Given the description of an element on the screen output the (x, y) to click on. 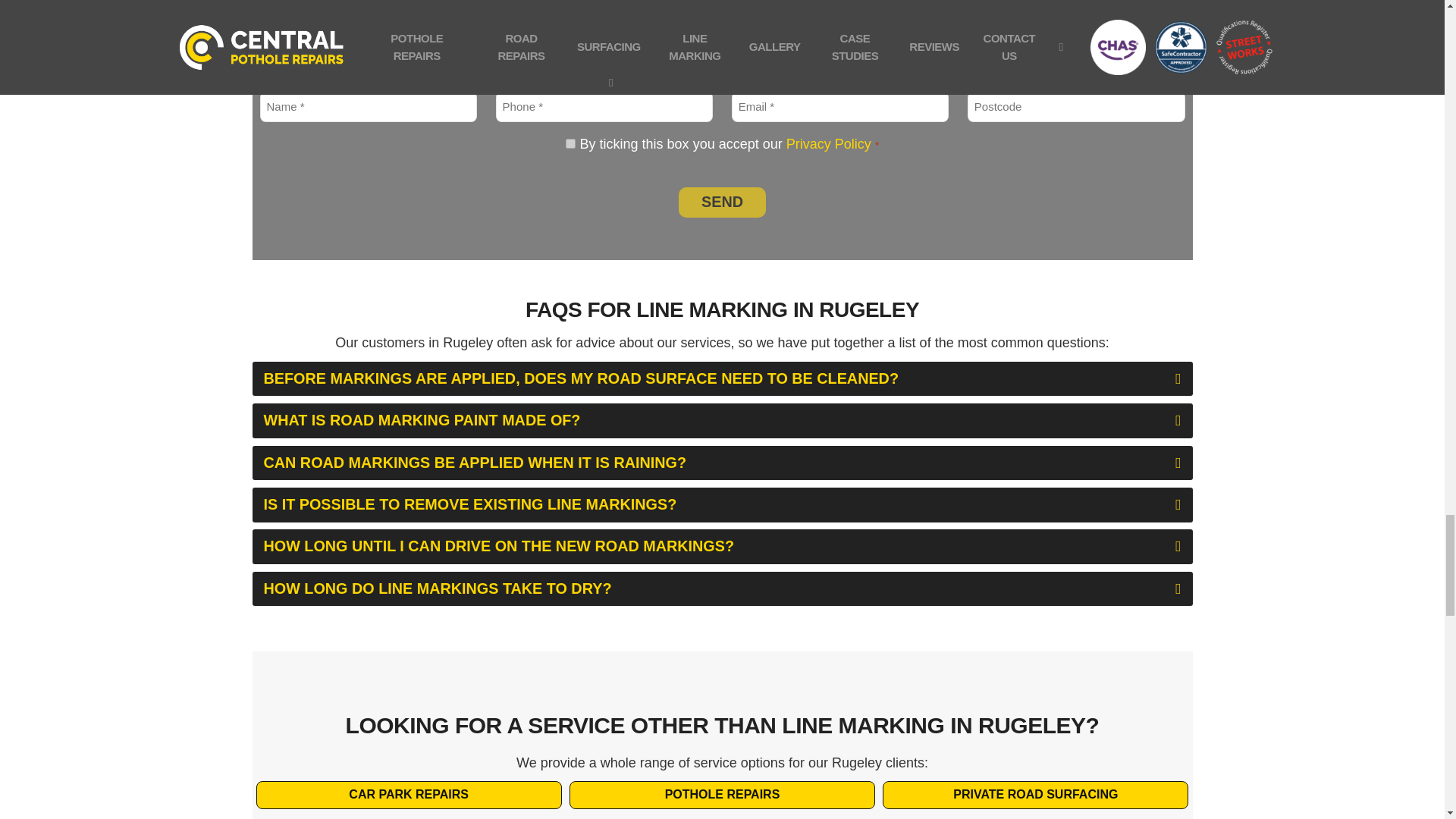
Send (721, 202)
1 (570, 143)
